Given the description of an element on the screen output the (x, y) to click on. 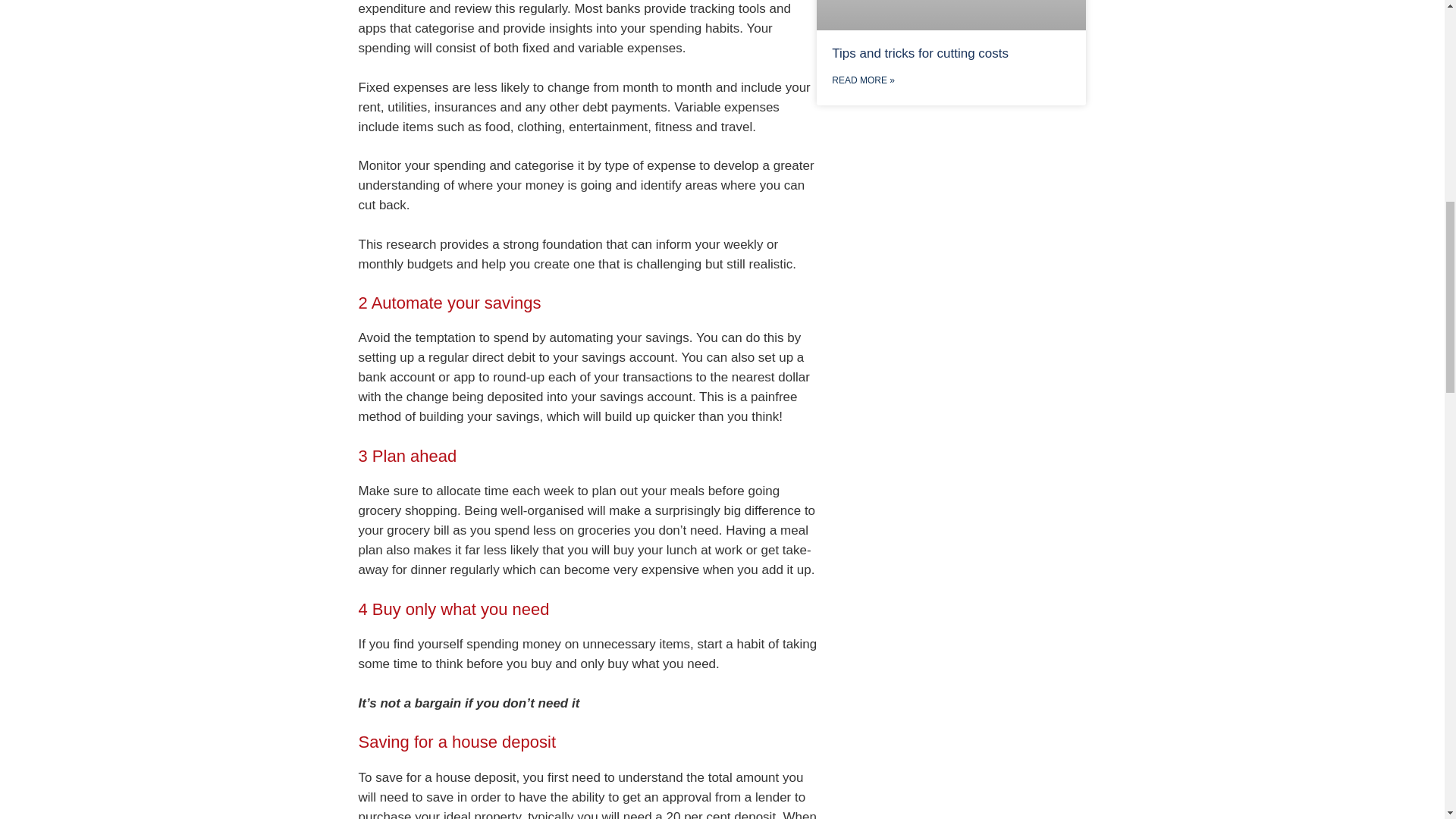
Tips and tricks for cutting costs (920, 52)
